Given the description of an element on the screen output the (x, y) to click on. 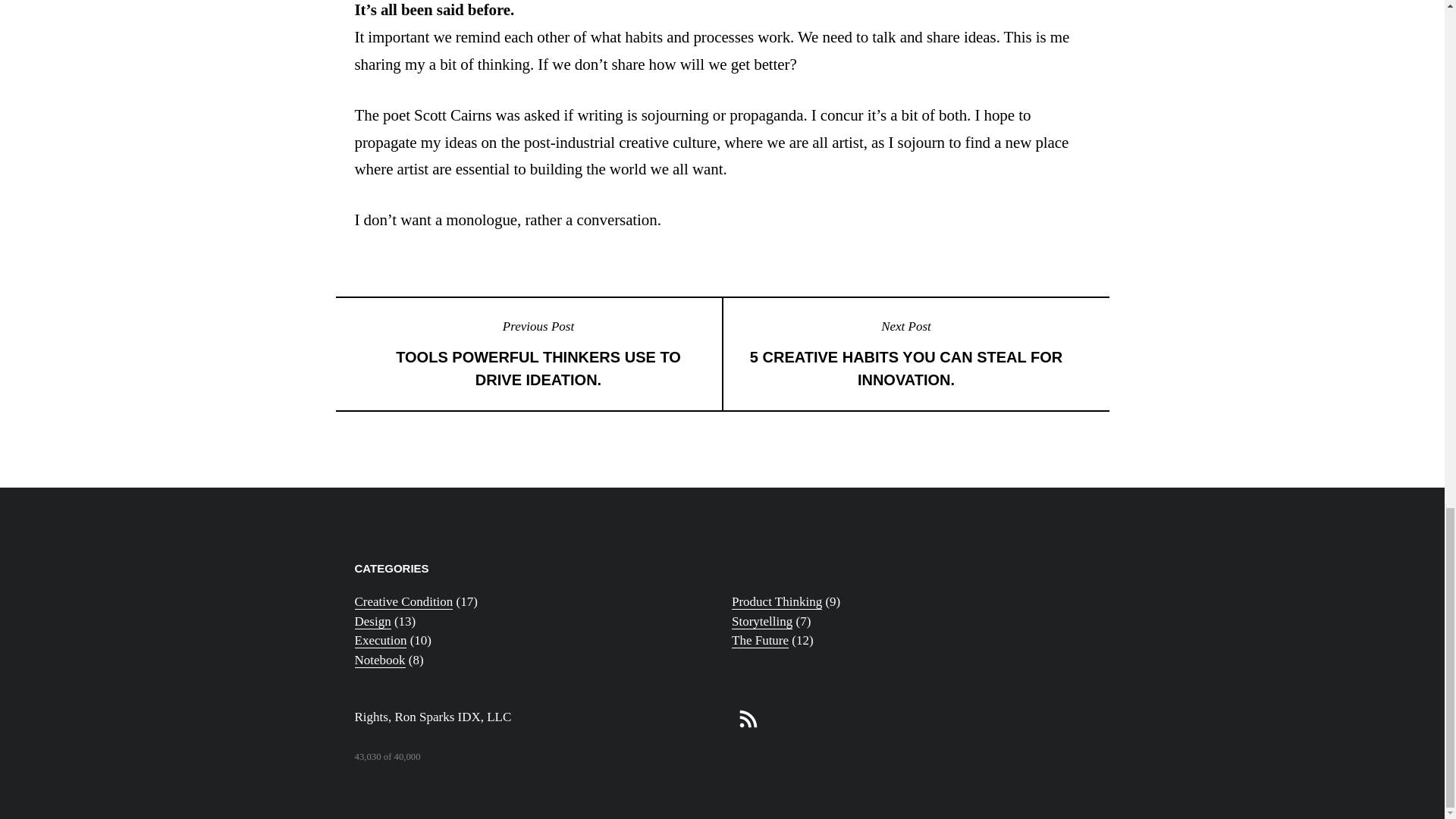
Product Thinking (905, 354)
Notebook (777, 601)
Execution (380, 660)
Storytelling (381, 640)
The Future (762, 621)
Creative Condition (760, 640)
Design (403, 601)
RSS (373, 621)
